Given the description of an element on the screen output the (x, y) to click on. 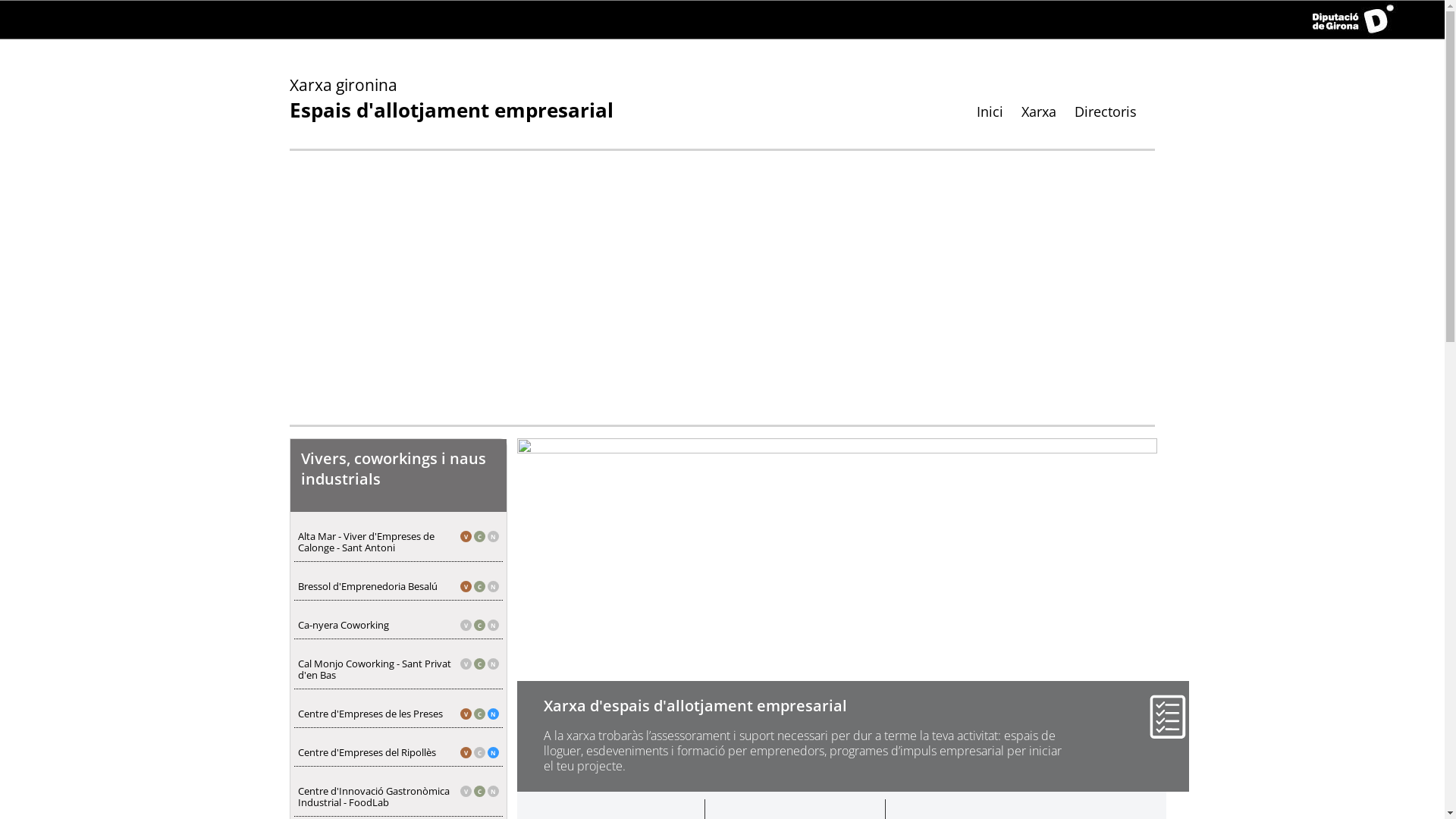
Alta Mar - Viver d'Empreses de Calonge - Sant Antoni Element type: text (398, 541)
Cal Monjo Coworking - Sant Privat d'en Bas Element type: text (398, 669)
Xarxa Element type: text (1037, 110)
Xarxa gironina
Espais d'allotjament empresarial Element type: text (451, 100)
Directoris Element type: text (1104, 110)
Centre d'Empreses de les Preses Element type: text (398, 713)
Inici Element type: text (989, 110)
Ca-nyera Coworking Element type: text (398, 624)
